Given the description of an element on the screen output the (x, y) to click on. 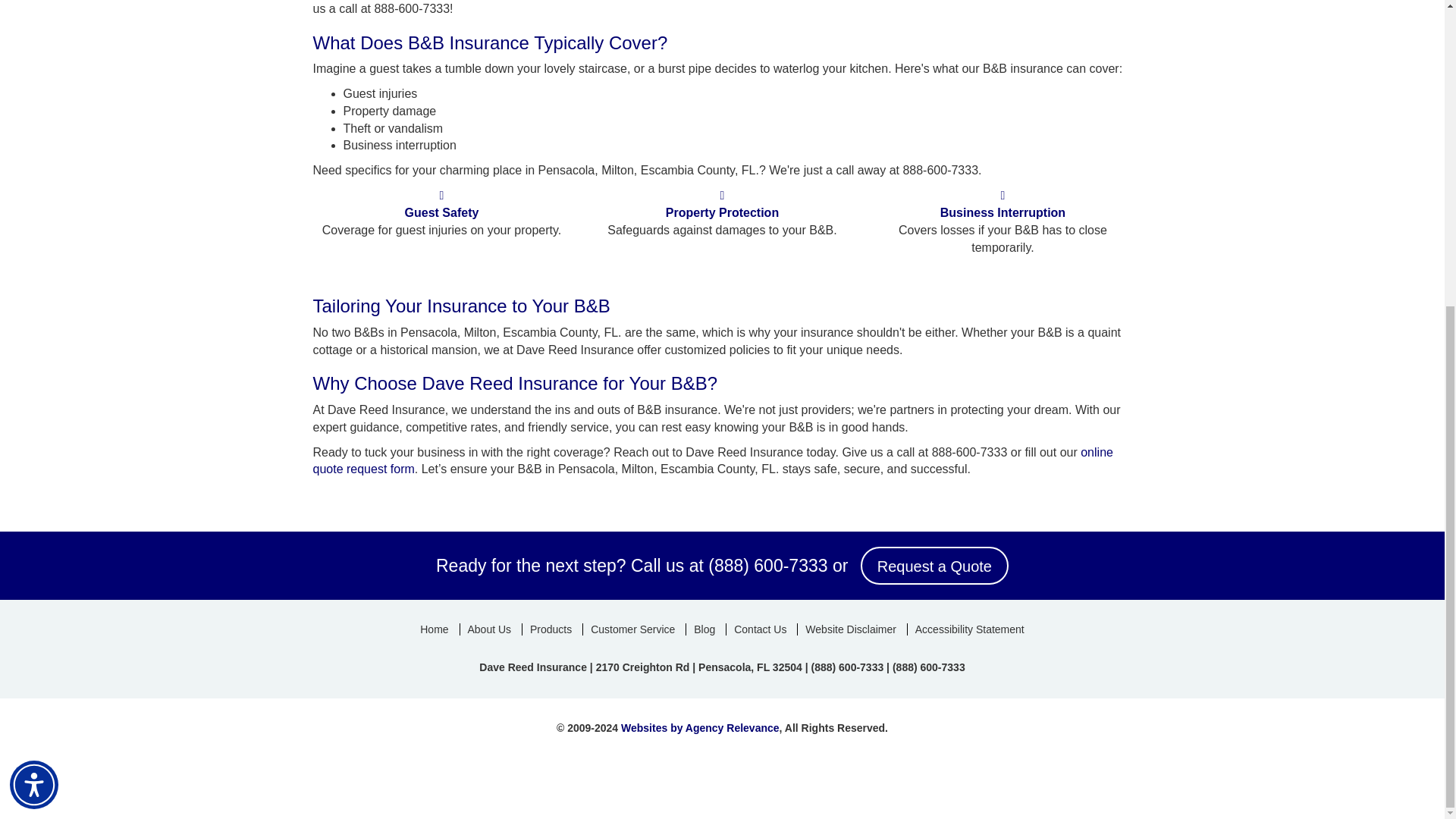
Products (550, 629)
Home (433, 629)
Accessibility Menu (34, 302)
Accessibility Statement (969, 629)
online quote request form (712, 460)
Websites by Agency Relevance (699, 727)
Website Disclaimer (850, 629)
Blog (703, 629)
Contact Us (759, 629)
Request a Quote (934, 565)
Customer Service (632, 629)
About Us (489, 629)
